Given the description of an element on the screen output the (x, y) to click on. 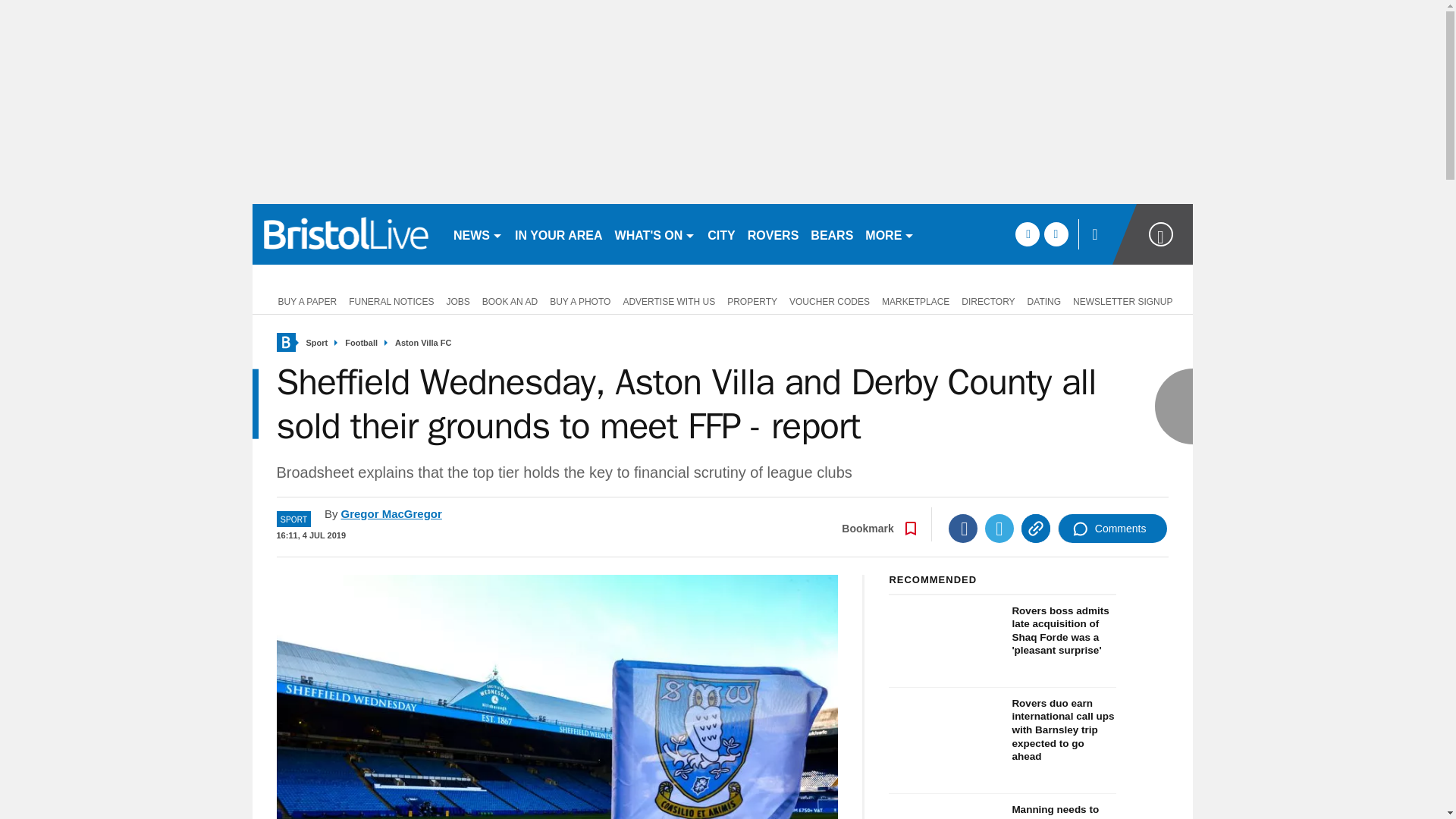
NEWS (477, 233)
ROVERS (773, 233)
twitter (1055, 233)
Facebook (962, 528)
MORE (889, 233)
facebook (1026, 233)
Twitter (999, 528)
WHAT'S ON (654, 233)
BEARS (832, 233)
bristolpost (345, 233)
